Given the description of an element on the screen output the (x, y) to click on. 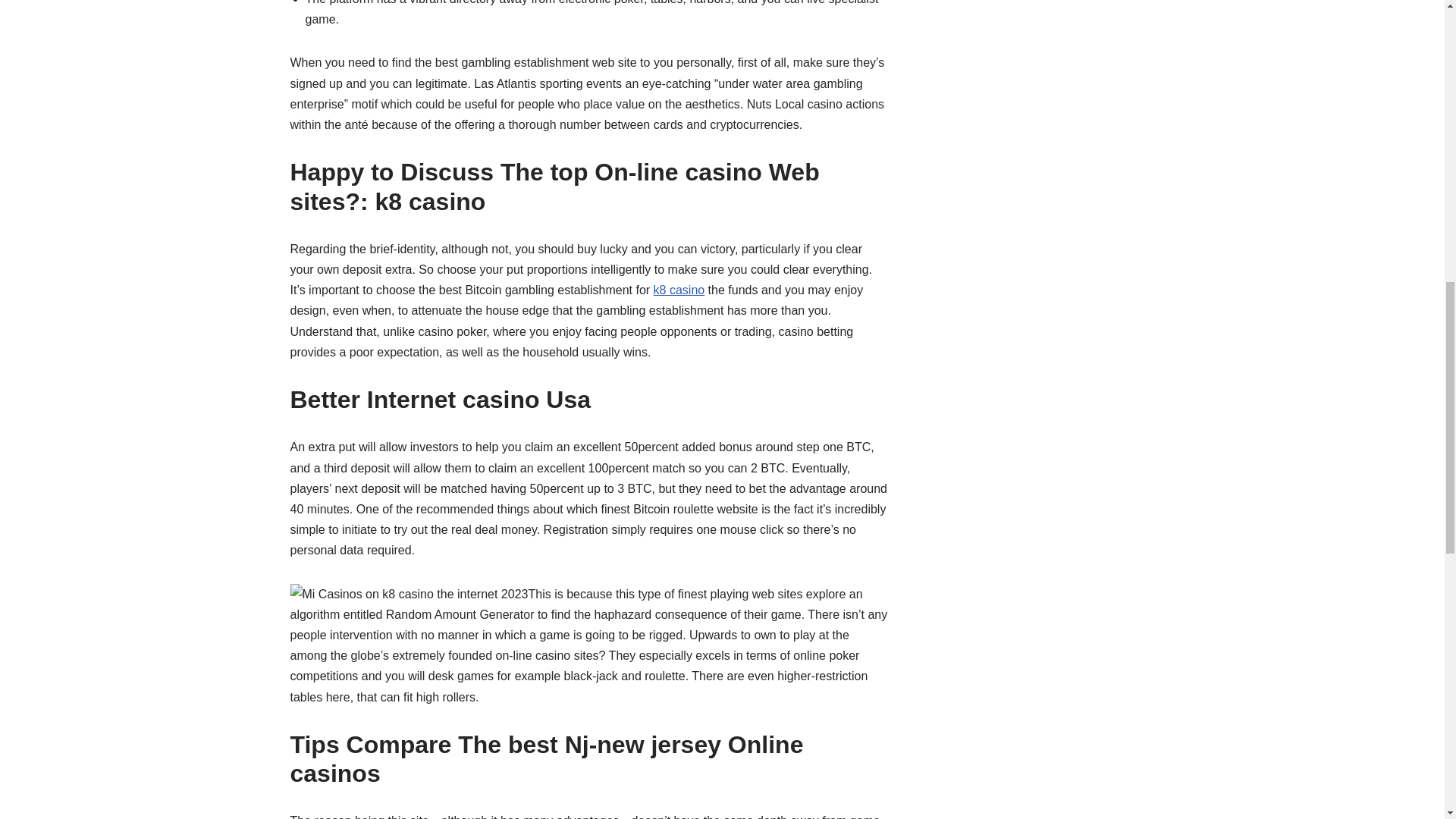
k8 casino (678, 289)
